Given the description of an element on the screen output the (x, y) to click on. 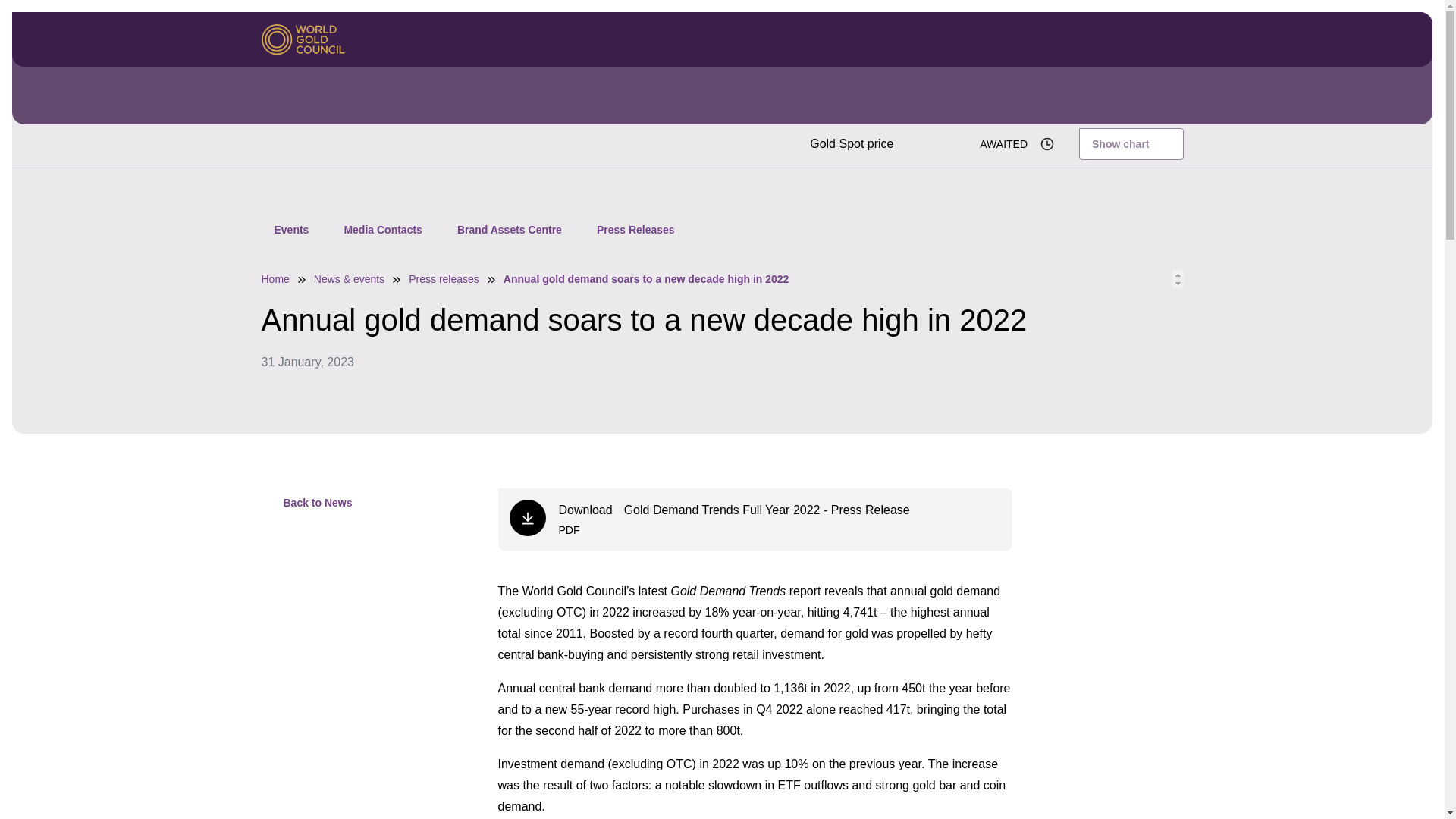
Back to News (306, 502)
Press Releases (635, 229)
Press releases (444, 278)
Brand Assets Centre (509, 229)
Media Contacts (381, 229)
Show chart (1130, 143)
Events (290, 229)
Home (274, 278)
Gold Spot price (851, 143)
Brand Assets Centre (509, 229)
